Given the description of an element on the screen output the (x, y) to click on. 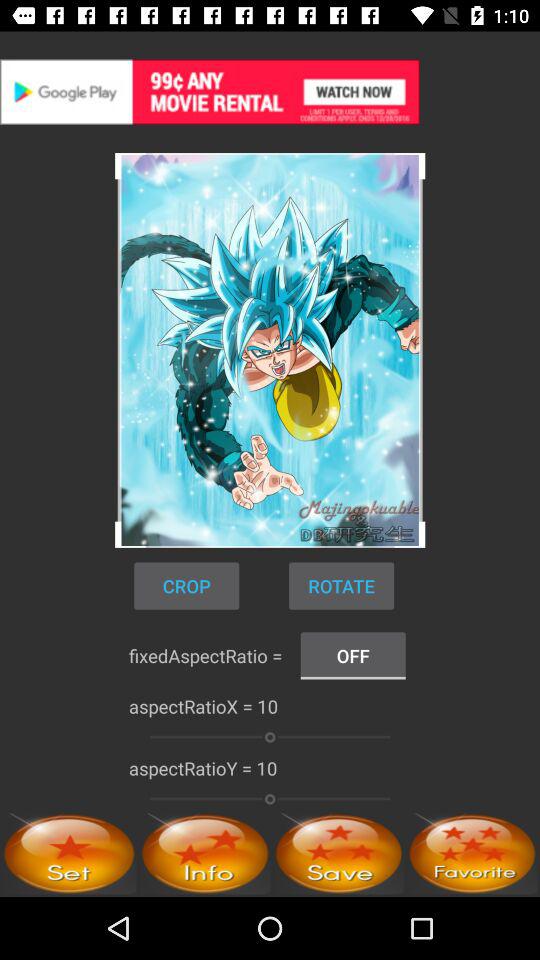
info (205, 853)
